Given the description of an element on the screen output the (x, y) to click on. 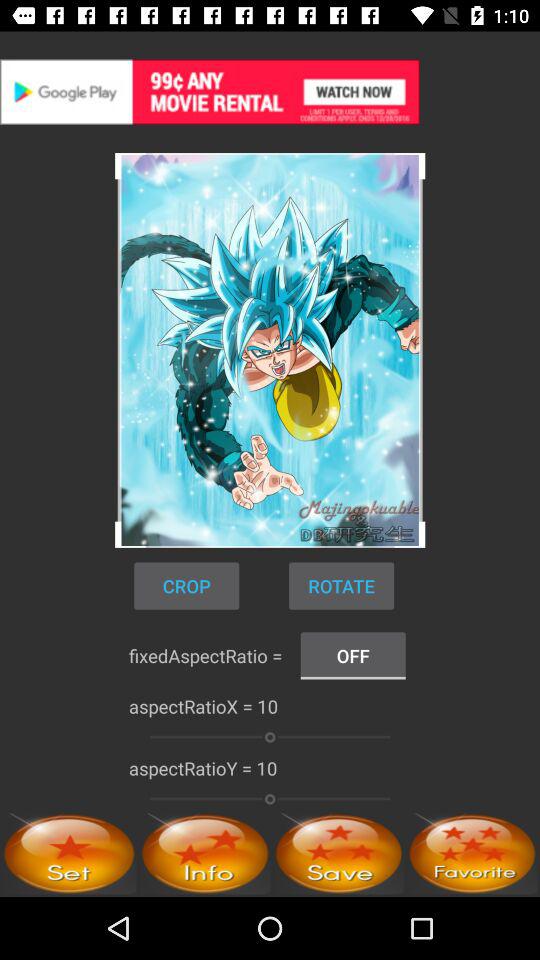
info (205, 853)
